Given the description of an element on the screen output the (x, y) to click on. 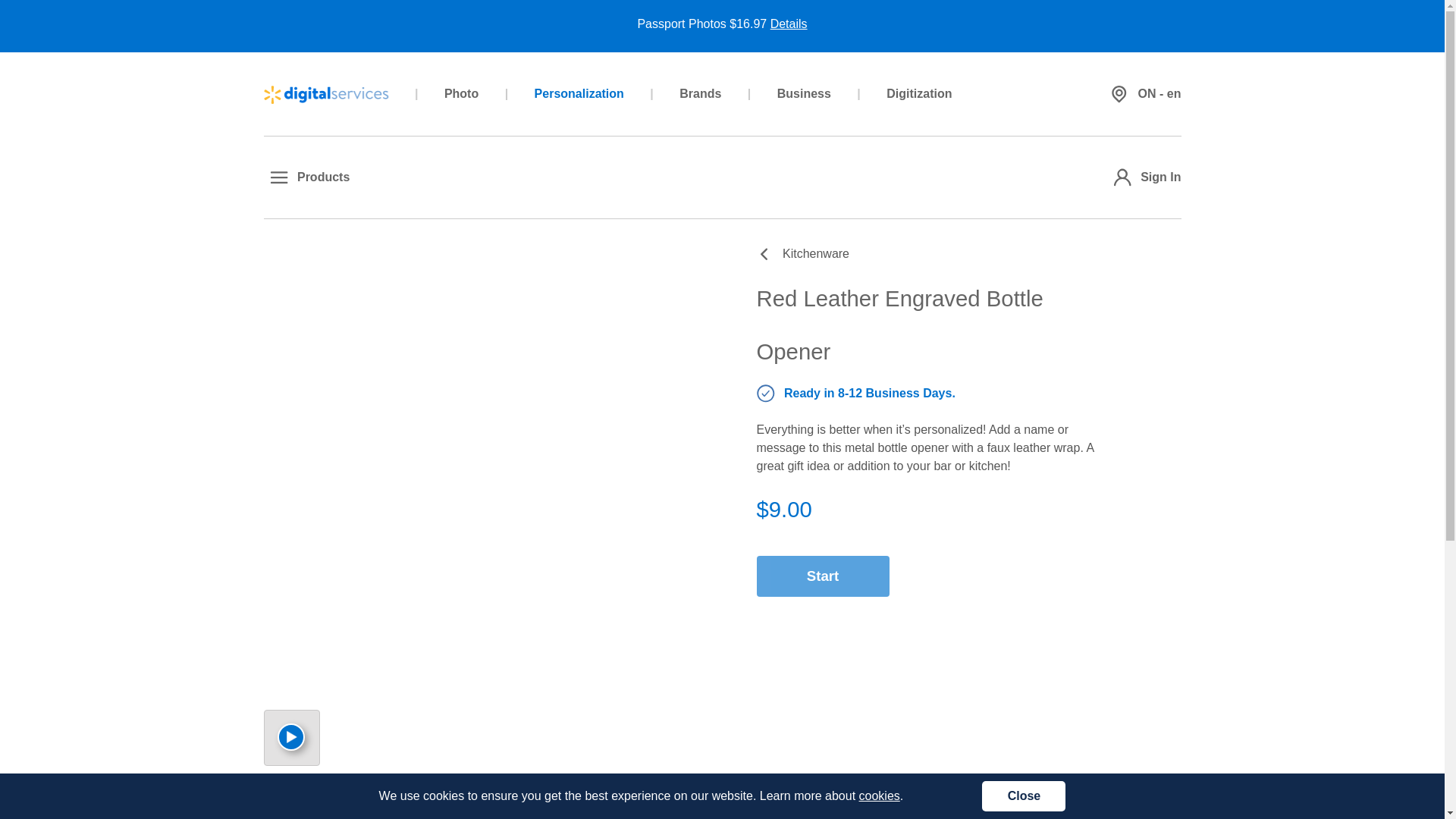
Brands (700, 93)
Photo (461, 93)
Business (803, 93)
Sign In (1143, 177)
ON - en (1141, 93)
Personalization (579, 93)
Digitization (918, 93)
Products (306, 177)
Details (789, 23)
